Given the description of an element on the screen output the (x, y) to click on. 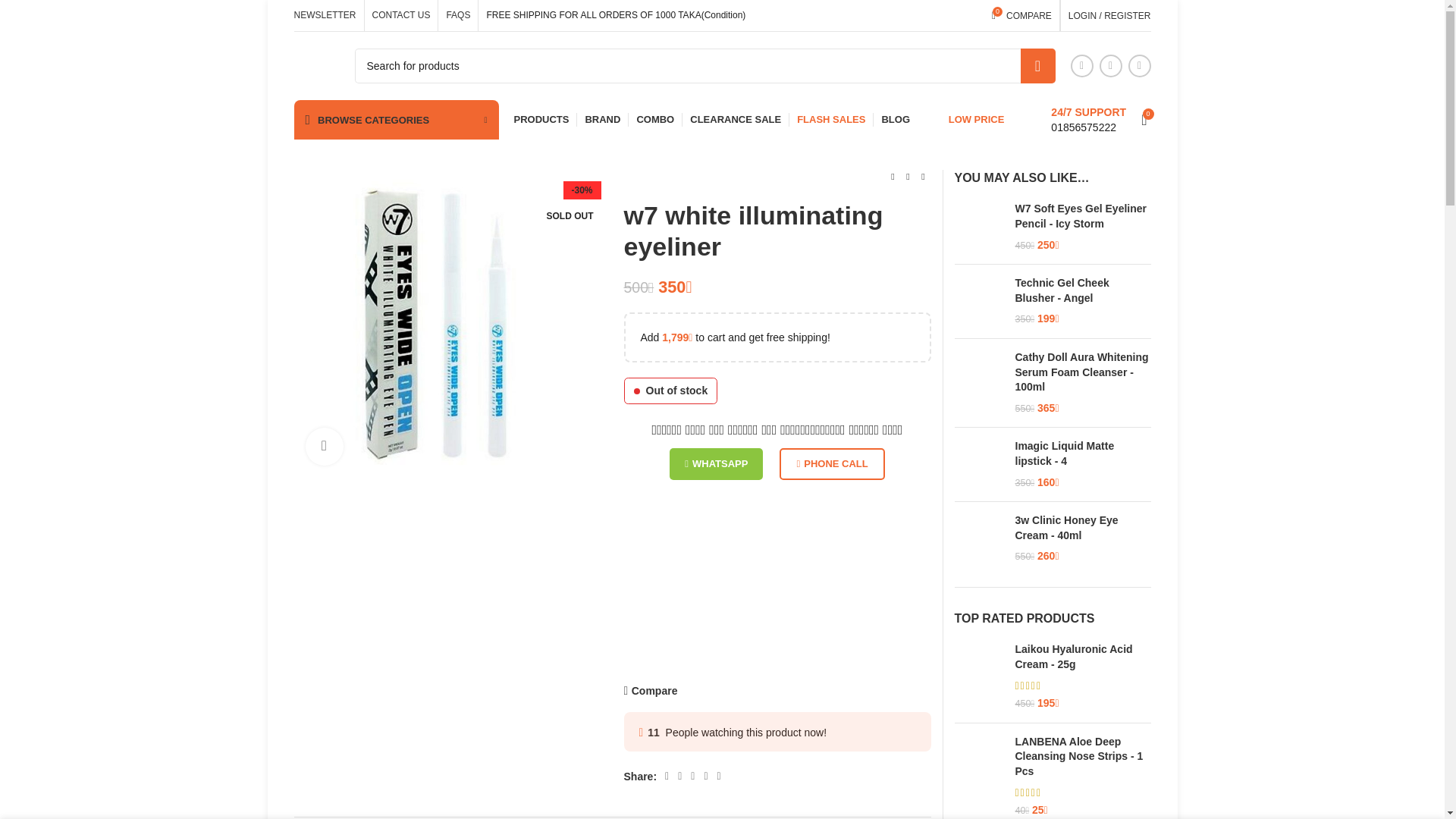
My account (1109, 15)
W7 White Illuminating Eyeliner (447, 322)
NEWSLETTER (325, 15)
Compare products (1021, 15)
CONTACT US (1021, 15)
W7 Soft Eyes Gel Eyeliner Pencil - Icy Storm (401, 15)
SEARCH (978, 226)
Search for products (1037, 65)
